Given the description of an element on the screen output the (x, y) to click on. 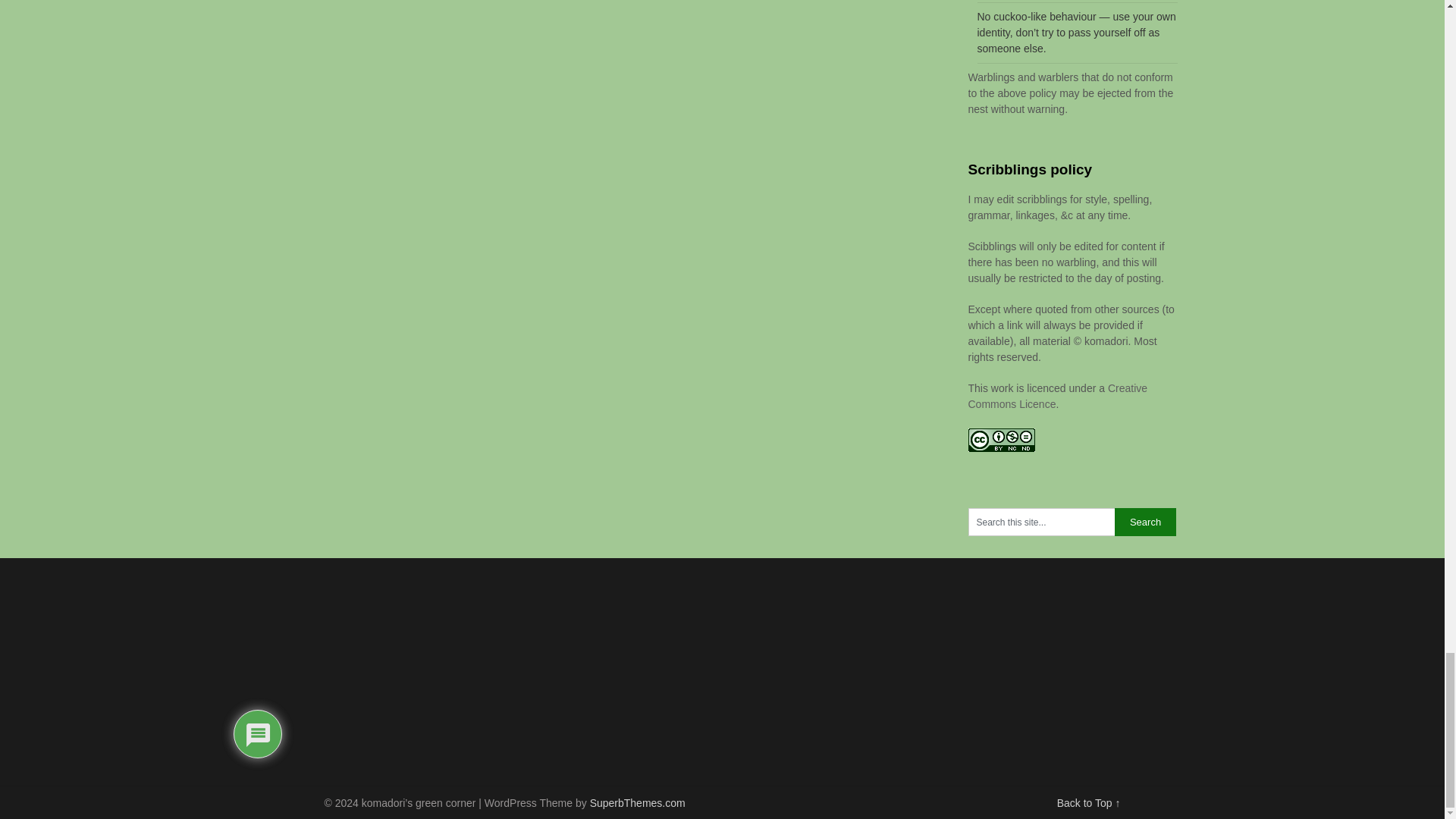
Search (1145, 521)
Search this site... (1040, 521)
